Given the description of an element on the screen output the (x, y) to click on. 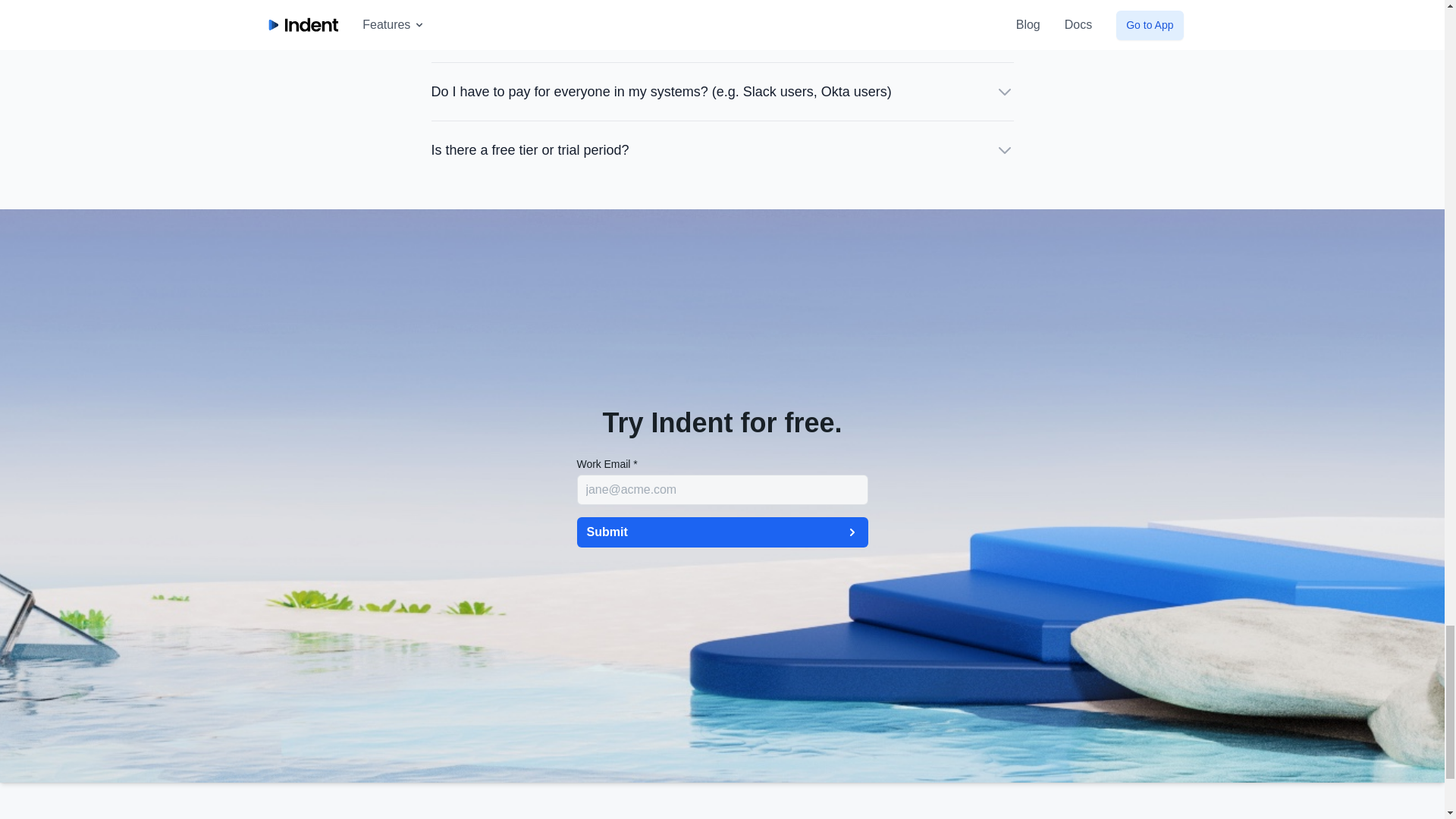
Do you support compliance frameworks like SOC 2? (721, 33)
Is there a free tier or trial period? (721, 149)
Submit (721, 531)
